Given the description of an element on the screen output the (x, y) to click on. 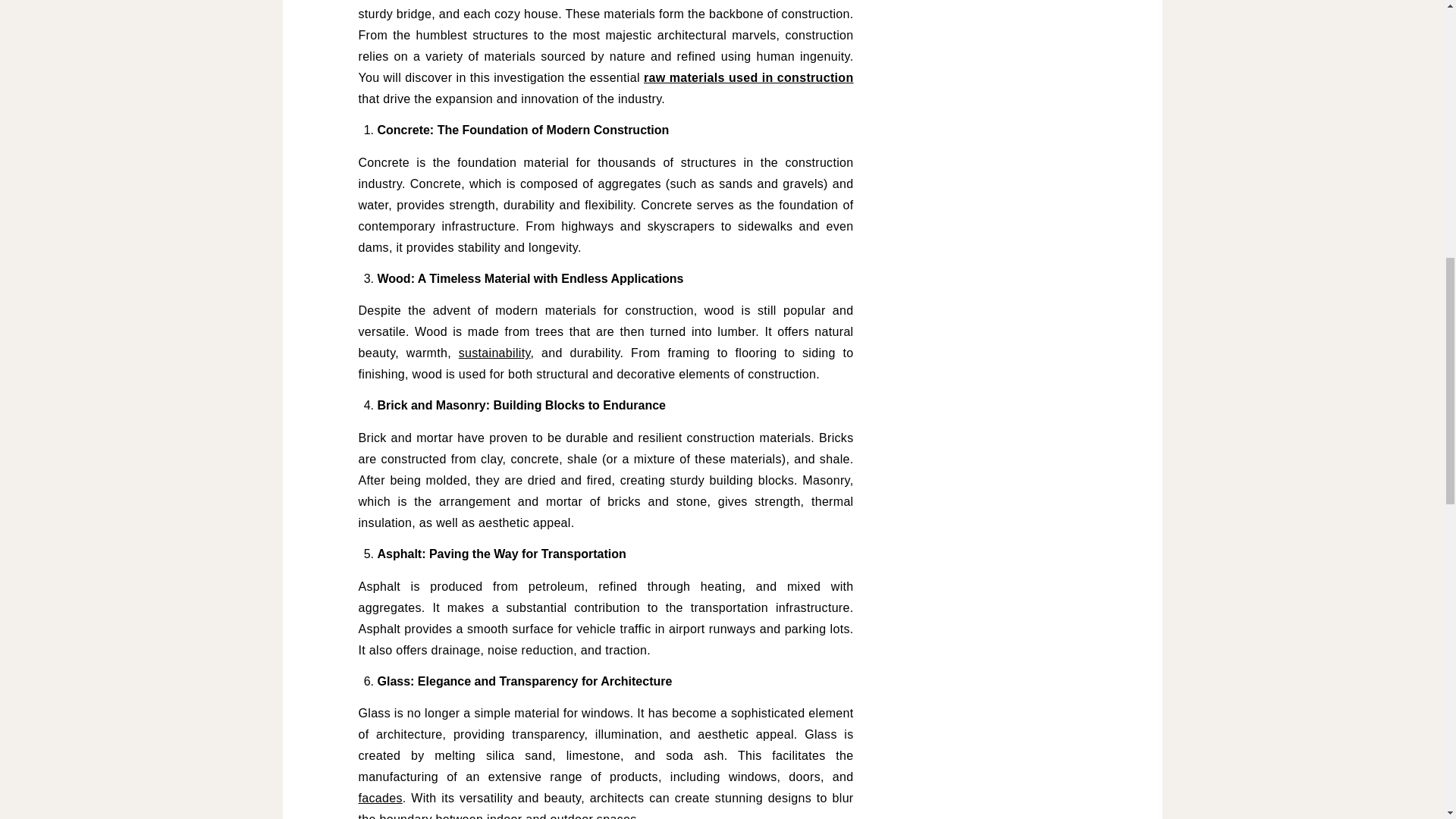
raw materials used in construction (748, 77)
facades (379, 797)
sustainability (494, 352)
